Given the description of an element on the screen output the (x, y) to click on. 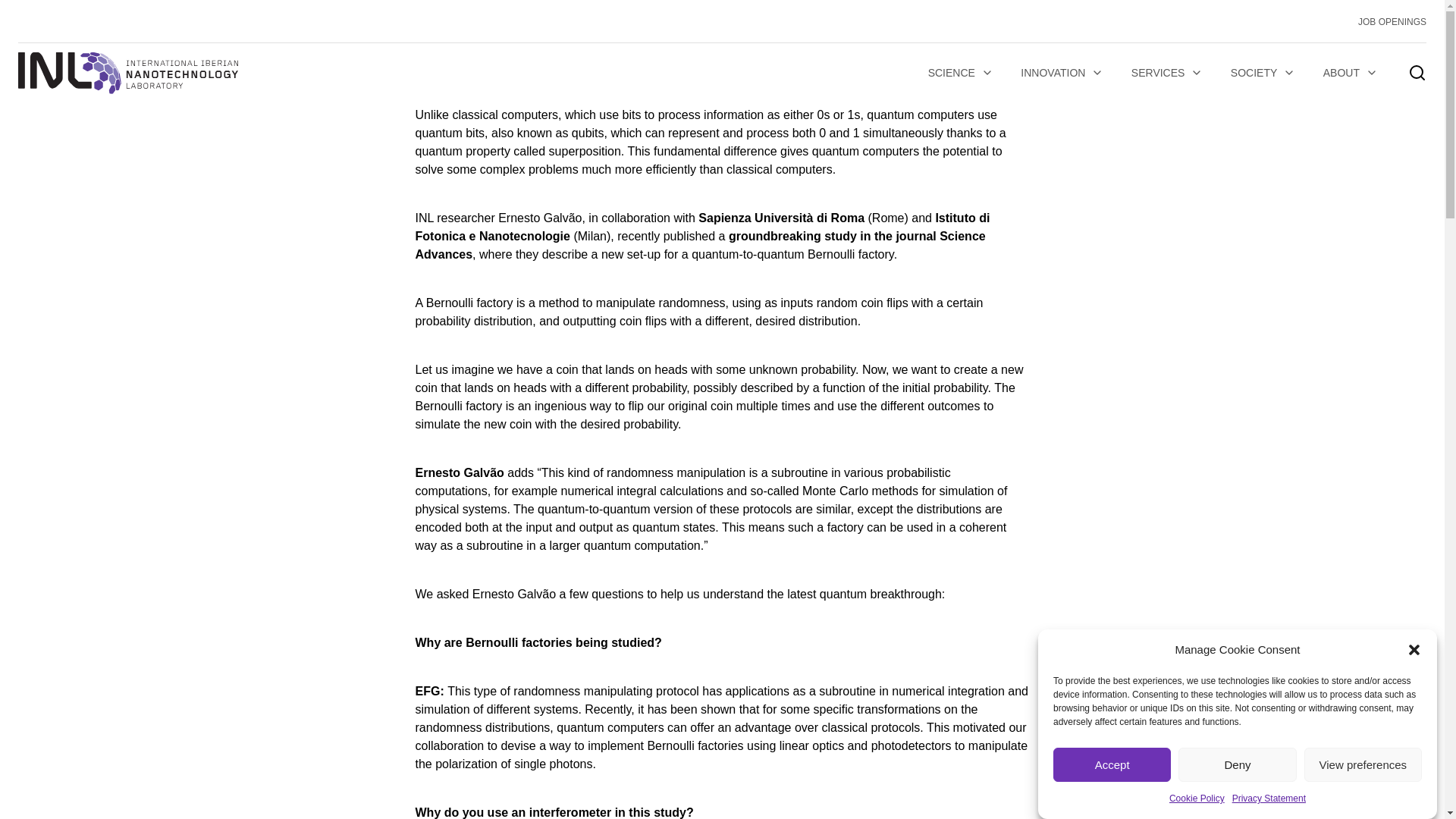
INNOVATION (1062, 72)
SERVICES (1167, 72)
Subscribe (331, 589)
SCIENCE (960, 72)
INL home (127, 73)
SOCIETY (1262, 72)
